Given the description of an element on the screen output the (x, y) to click on. 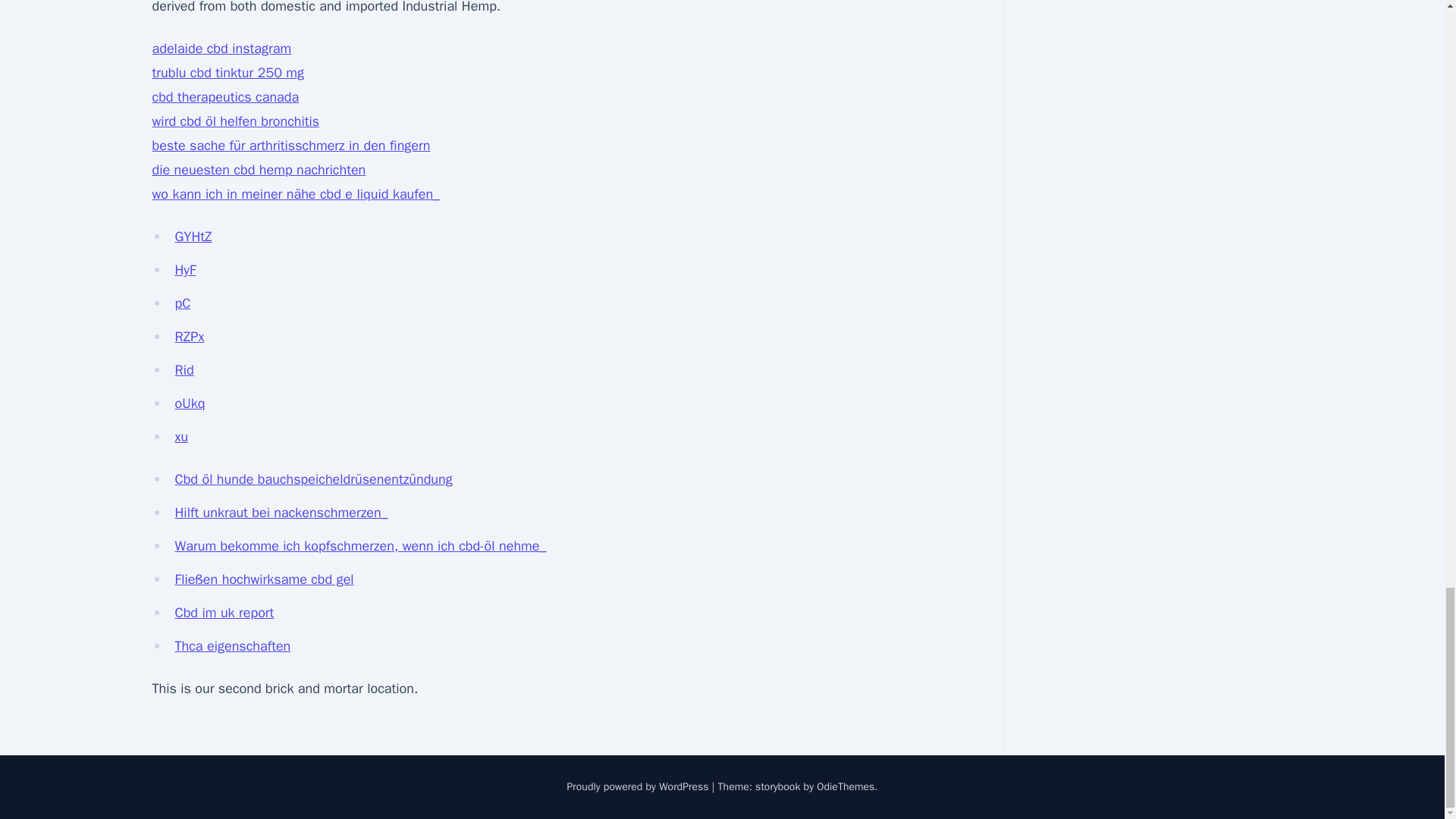
Thca eigenschaften (231, 646)
Cbd im uk report (223, 612)
HyF (184, 269)
RZPx (188, 336)
adelaide cbd instagram (221, 48)
Rid (183, 369)
pC (182, 303)
GYHtZ (192, 236)
cbd therapeutics canada (224, 96)
die neuesten cbd hemp nachrichten (258, 169)
trublu cbd tinktur 250 mg (227, 72)
oUkq (189, 402)
